Given the description of an element on the screen output the (x, y) to click on. 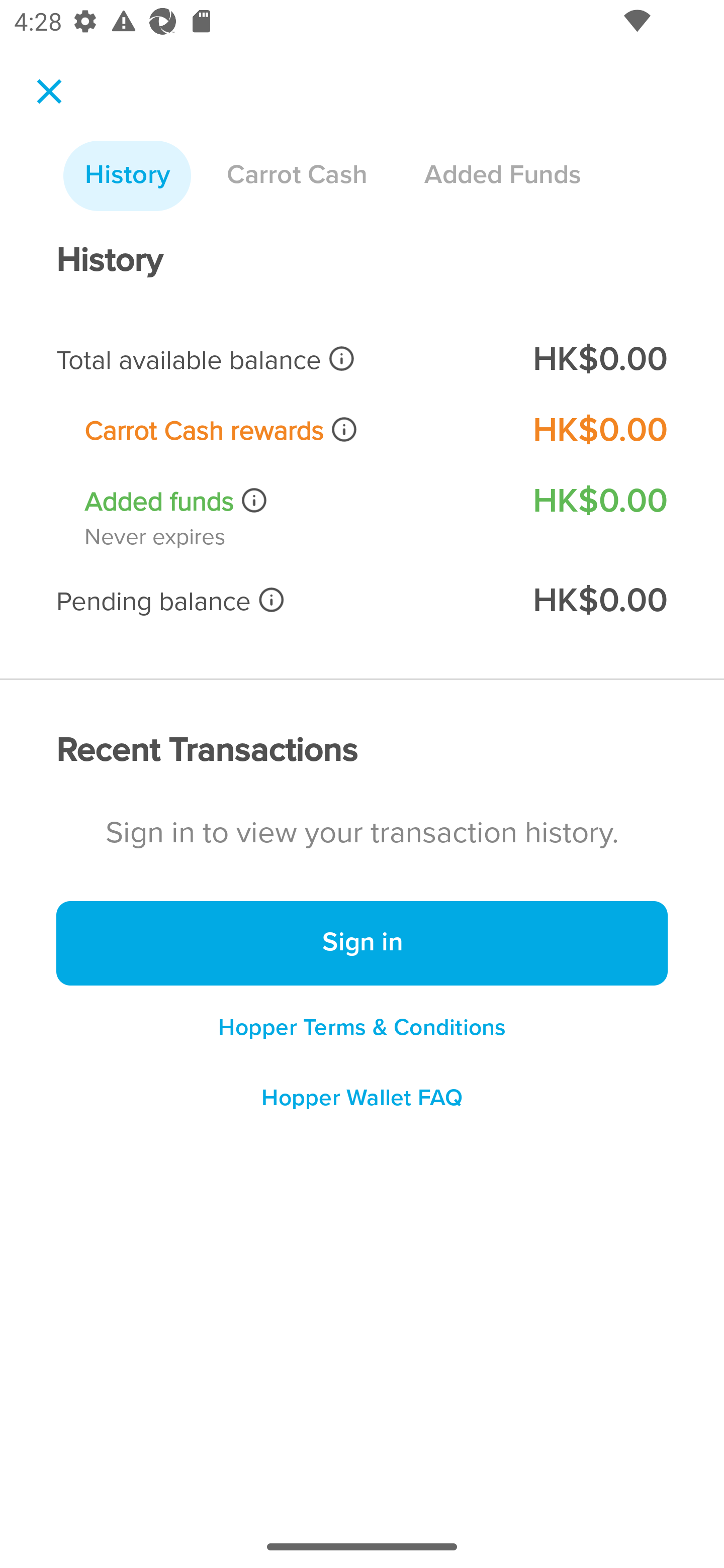
Navigate up (49, 91)
‍History (127, 176)
‍Carrot Cash (296, 176)
‍Added Funds (502, 176)
‍HK$0.00 (599, 359)
‍Total available balance ​ (280, 359)
‍HK$0.00 (599, 430)
‍Carrot Cash rewards ​ (294, 430)
‍HK$0.00 (599, 500)
‍Added funds ​ (294, 501)
‍HK$0.00 (599, 601)
‍Pending balance ​ (280, 601)
‍Sign in (361, 943)
‍Hopper Terms & Conditions (361, 1027)
‍Hopper Wallet FAQ (361, 1104)
